Given the description of an element on the screen output the (x, y) to click on. 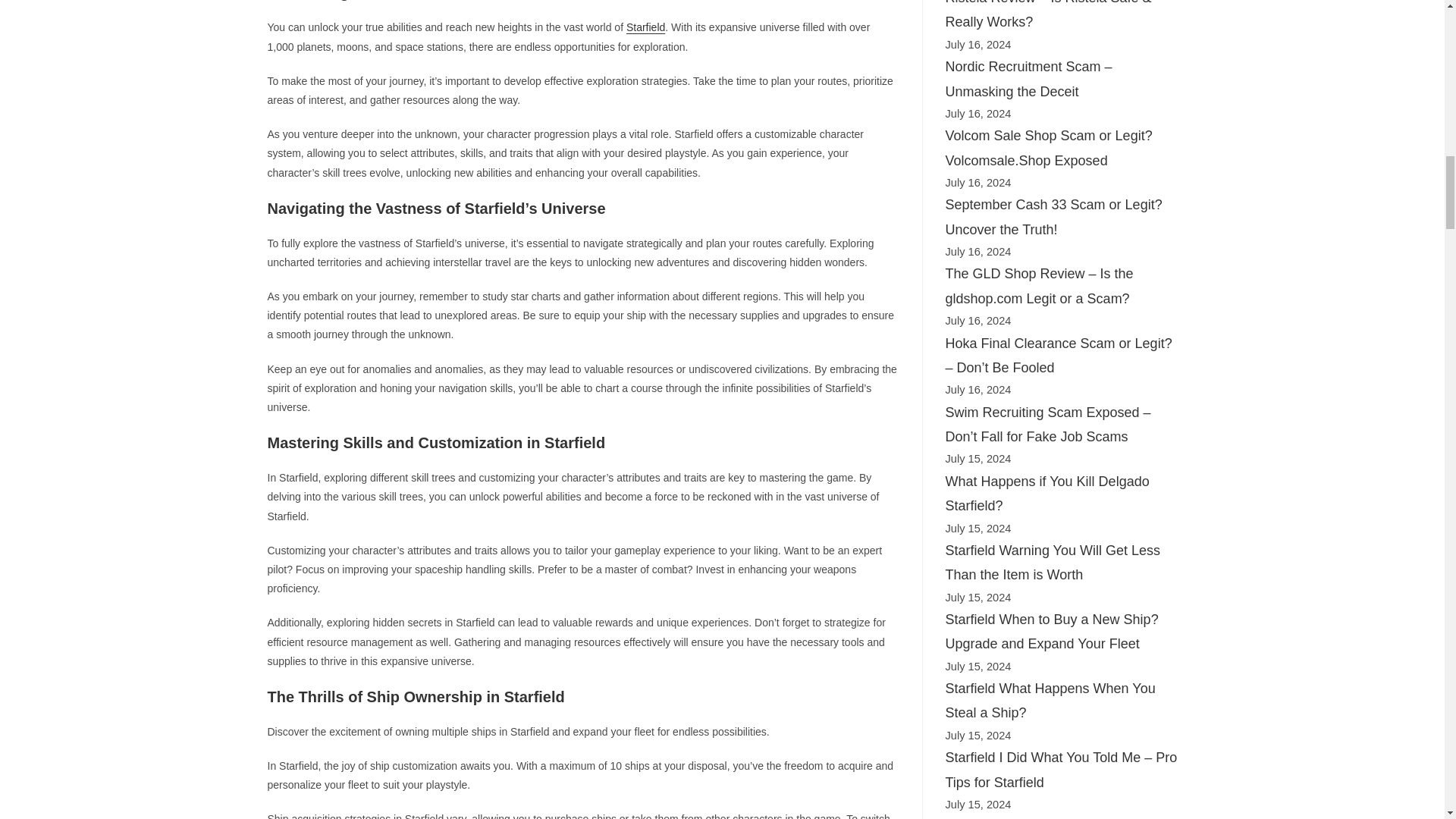
Starfield (645, 27)
